Given the description of an element on the screen output the (x, y) to click on. 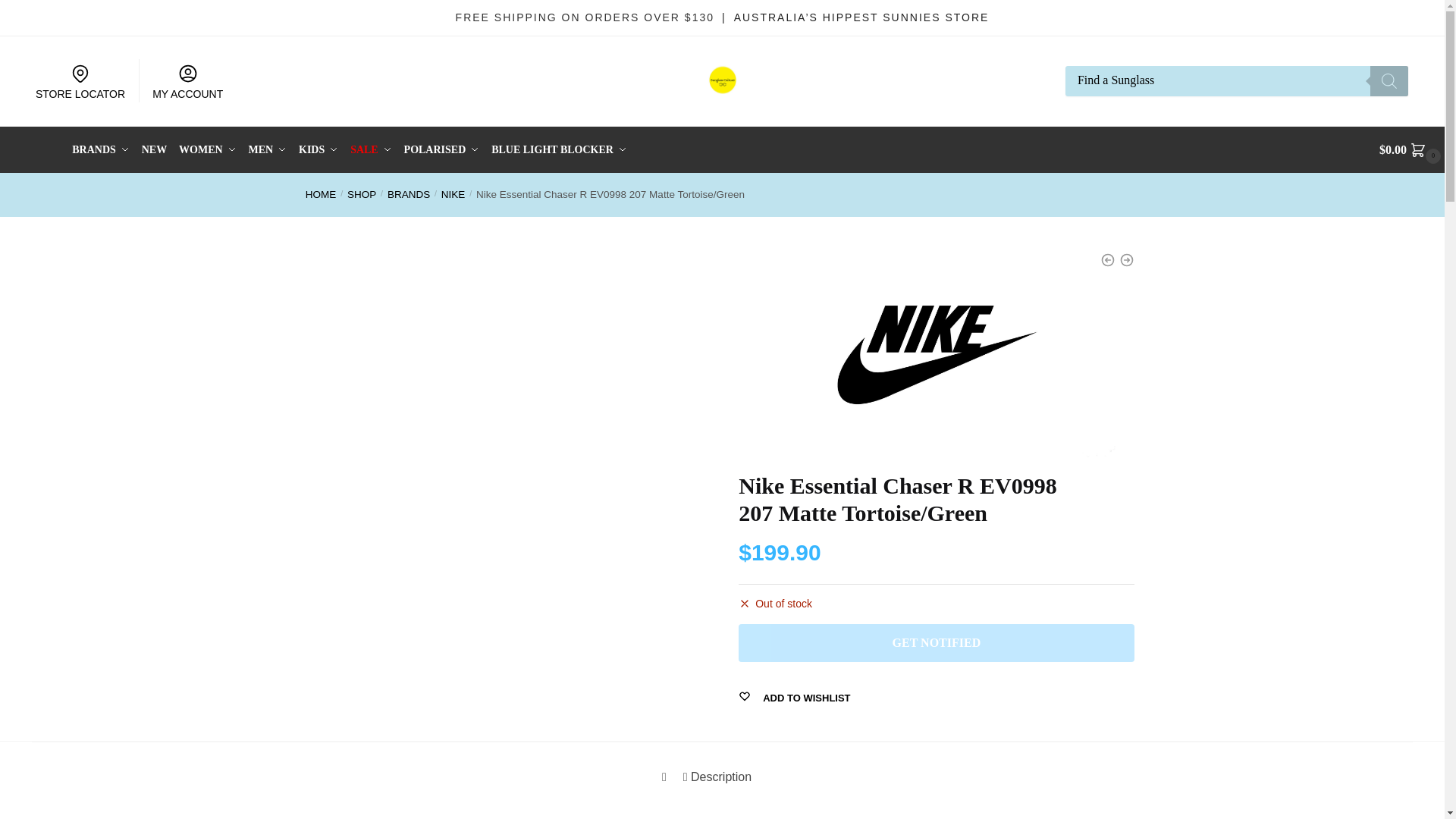
BRANDS (103, 149)
Get notified (936, 642)
MY ACCOUNT (187, 80)
Wishlist (802, 698)
STORE LOCATOR (80, 80)
